Given the description of an element on the screen output the (x, y) to click on. 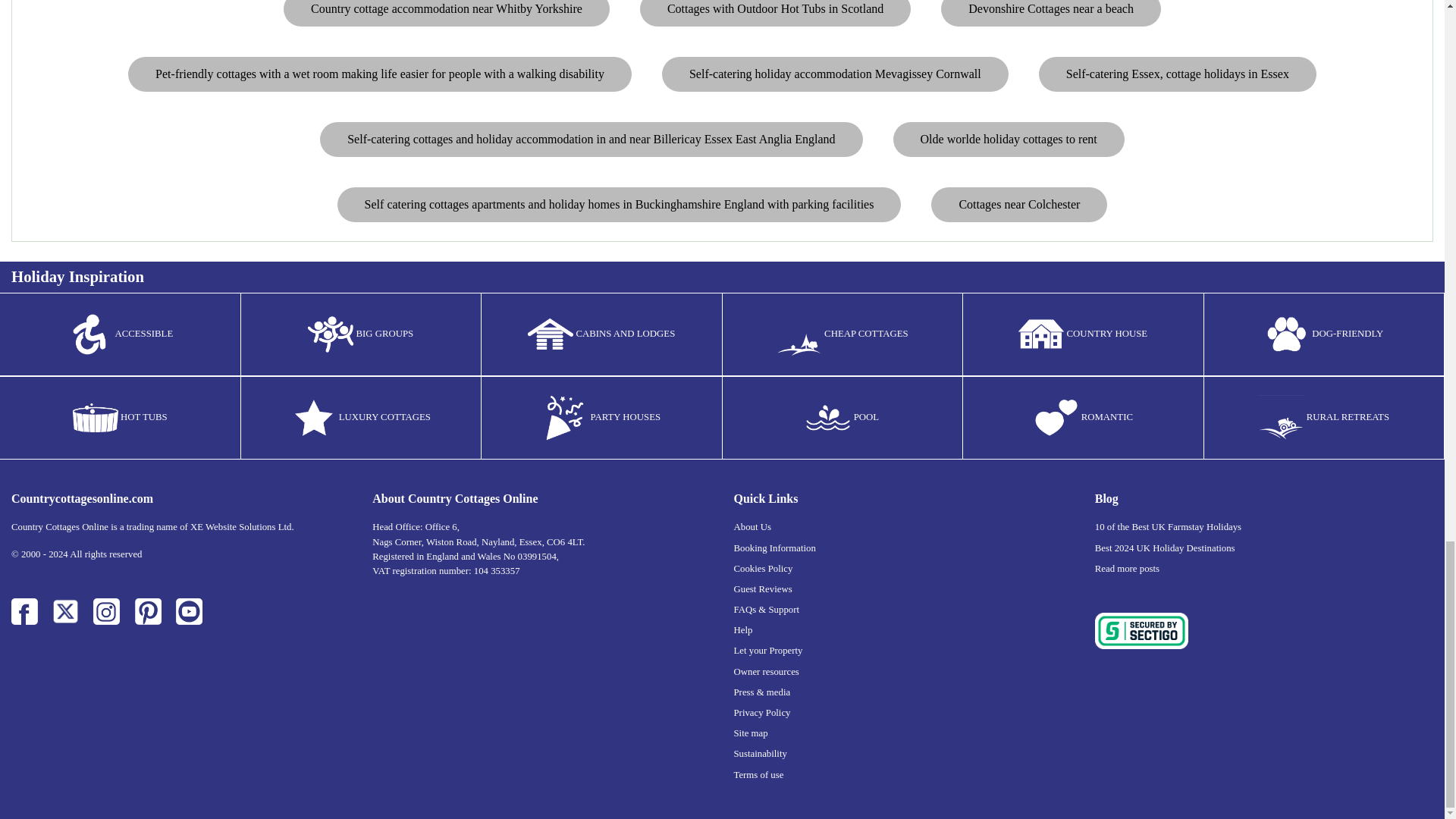
Accessible Cottages (89, 334)
facebook (24, 611)
Log Cabin Holidays (550, 334)
twitter (65, 611)
Hot Tub Holidays (94, 417)
Romantic Holiday Cottages (1055, 417)
Party Houses (564, 417)
Big Groups (330, 334)
Cottages with Pools (827, 417)
Large Country Houses (1040, 334)
Dogs Welcome Cottages (1285, 334)
Cheap Cottages (799, 334)
Rural Retreats (1280, 417)
All self-catering (313, 417)
